Given the description of an element on the screen output the (x, y) to click on. 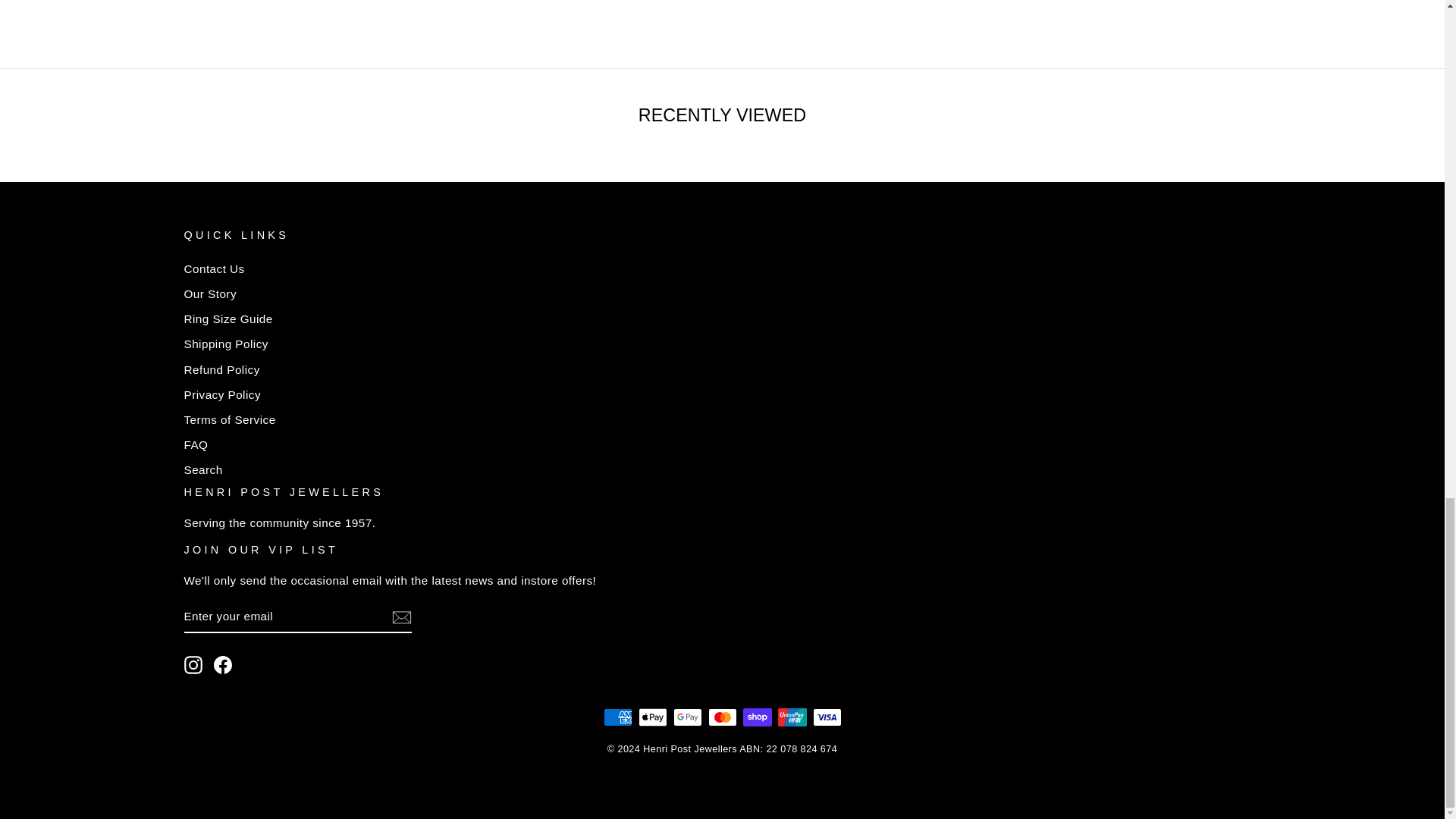
Henri Post Jewellers on Instagram (192, 665)
Apple Pay (652, 717)
Union Pay (791, 717)
Mastercard (721, 717)
Google Pay (686, 717)
Visa (826, 717)
Shop Pay (756, 717)
American Express (617, 717)
Henri Post Jewellers on Facebook (222, 665)
